Given the description of an element on the screen output the (x, y) to click on. 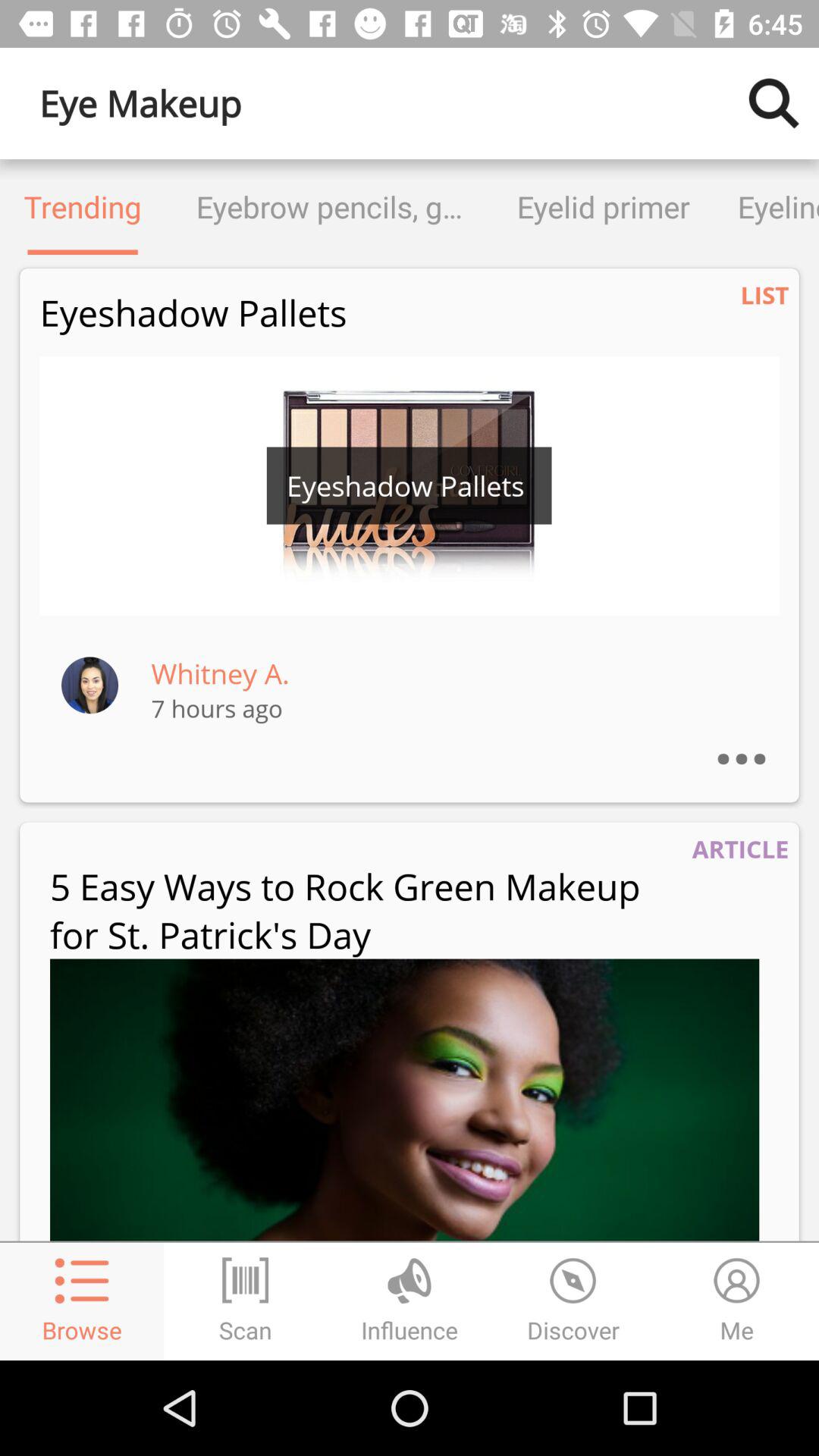
launch item below eyeliner item (764, 294)
